Given the description of an element on the screen output the (x, y) to click on. 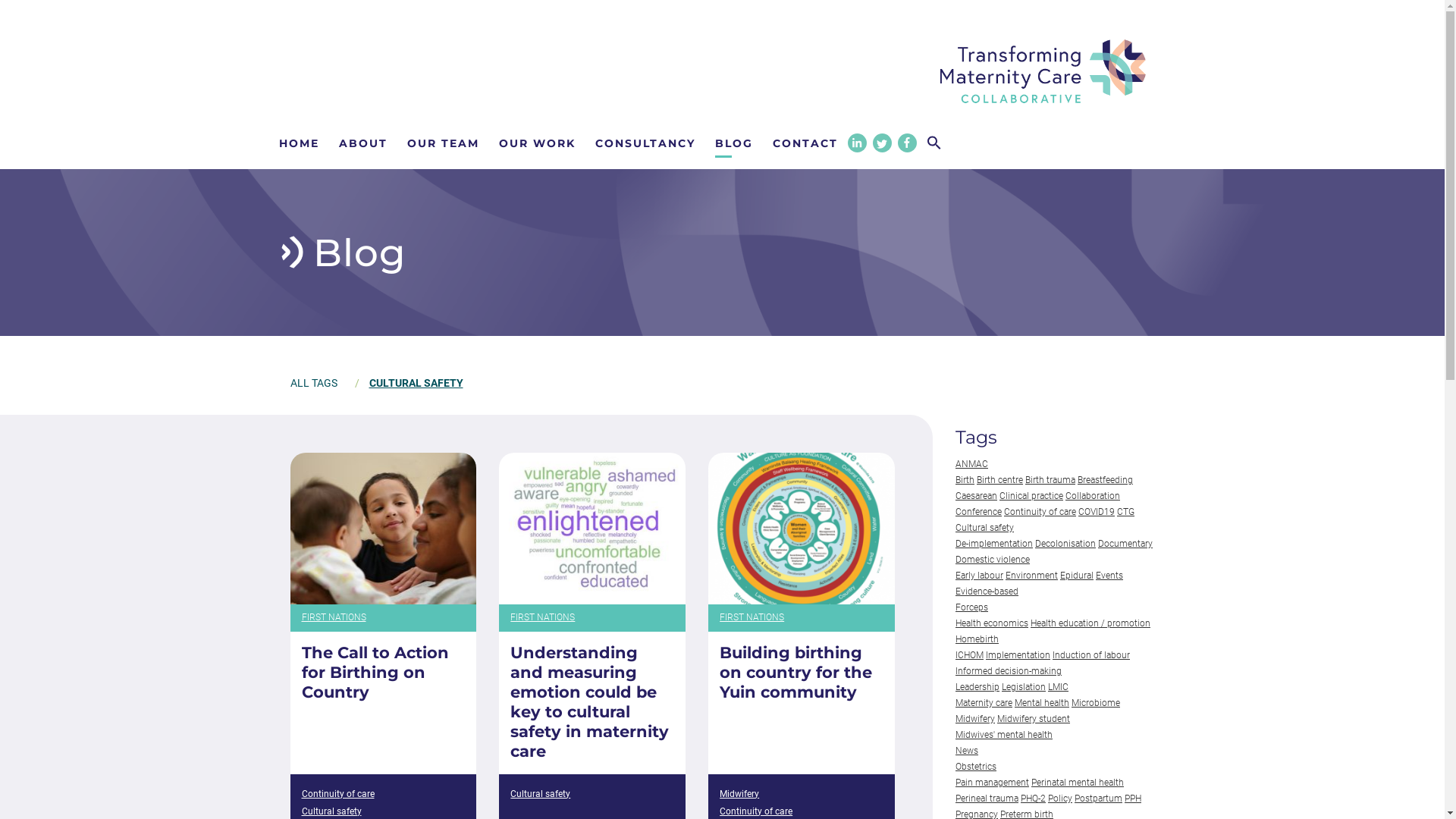
ALL TAGS Element type: text (316, 382)
Leadership Element type: text (977, 686)
CTG Element type: text (1125, 511)
CULTURAL SAFETY Element type: text (415, 382)
Midwifery Element type: text (974, 718)
Birth centre Element type: text (999, 479)
Cultural safety Element type: text (984, 527)
Clinical practice Element type: text (1031, 495)
Forceps Element type: text (971, 607)
FIRST NATIONS Element type: text (801, 617)
Obstetrics Element type: text (975, 766)
Postpartum Element type: text (1098, 798)
Early labour Element type: text (979, 575)
Environment Element type: text (1031, 575)
Building birthing on country for the Yuin community Element type: text (801, 672)
ICHOM Element type: text (969, 654)
Legislation Element type: text (1023, 686)
Continuity of care Element type: text (1040, 511)
Perinatal mental health Element type: text (1077, 782)
COVID19 Element type: text (1096, 511)
Health economics Element type: text (991, 623)
Birth trauma Element type: text (1050, 479)
ANMAC Element type: text (971, 463)
Conference Element type: text (978, 511)
Implementation Element type: text (1017, 654)
CONTACT Element type: text (804, 143)
Birth Element type: text (964, 479)
Policy Element type: text (1060, 798)
Induction of labour Element type: text (1090, 654)
Health education / promotion Element type: text (1090, 623)
Decolonisation Element type: text (1065, 543)
Breastfeeding Element type: text (1104, 479)
FIRST NATIONS Element type: text (591, 617)
Documentary Element type: text (1125, 543)
HOME Element type: text (302, 143)
LMIC Element type: text (1058, 686)
Evidence-based Element type: text (986, 591)
Caesarean Element type: text (976, 495)
News Element type: text (966, 750)
Pain management Element type: text (992, 782)
Midwives' mental health Element type: text (1003, 734)
PHQ-2 Element type: text (1032, 798)
Maternity care Element type: text (983, 702)
Cultural safety Element type: text (540, 794)
Collaboration Element type: text (1092, 495)
Epidural Element type: text (1076, 575)
The Call to Action for Birthing on Country Element type: text (383, 672)
PPH Element type: text (1132, 798)
Microbiome Element type: text (1095, 702)
Domestic violence Element type: text (992, 559)
Perineal trauma Element type: text (986, 798)
Midwifery Element type: text (739, 794)
Events Element type: text (1109, 575)
De-implementation Element type: text (993, 543)
Homebirth Element type: text (976, 638)
FIRST NATIONS Element type: text (382, 617)
ABOUT Element type: text (362, 143)
<i class="fab fa-twitter"></i> Element type: hover (881, 144)
BLOG Element type: text (733, 143)
Informed decision-making Element type: text (1008, 670)
Mental health Element type: text (1041, 702)
<i class="fab fa-linkedin-in"></i> Element type: hover (856, 142)
<i class="fab fa-facebook-f"></i> Element type: hover (906, 142)
OUR WORK Element type: text (536, 143)
CONSULTANCY Element type: text (644, 143)
Midwifery student Element type: text (1033, 718)
Continuity of care Element type: text (337, 794)
OUR TEAM Element type: text (442, 143)
